Given the description of an element on the screen output the (x, y) to click on. 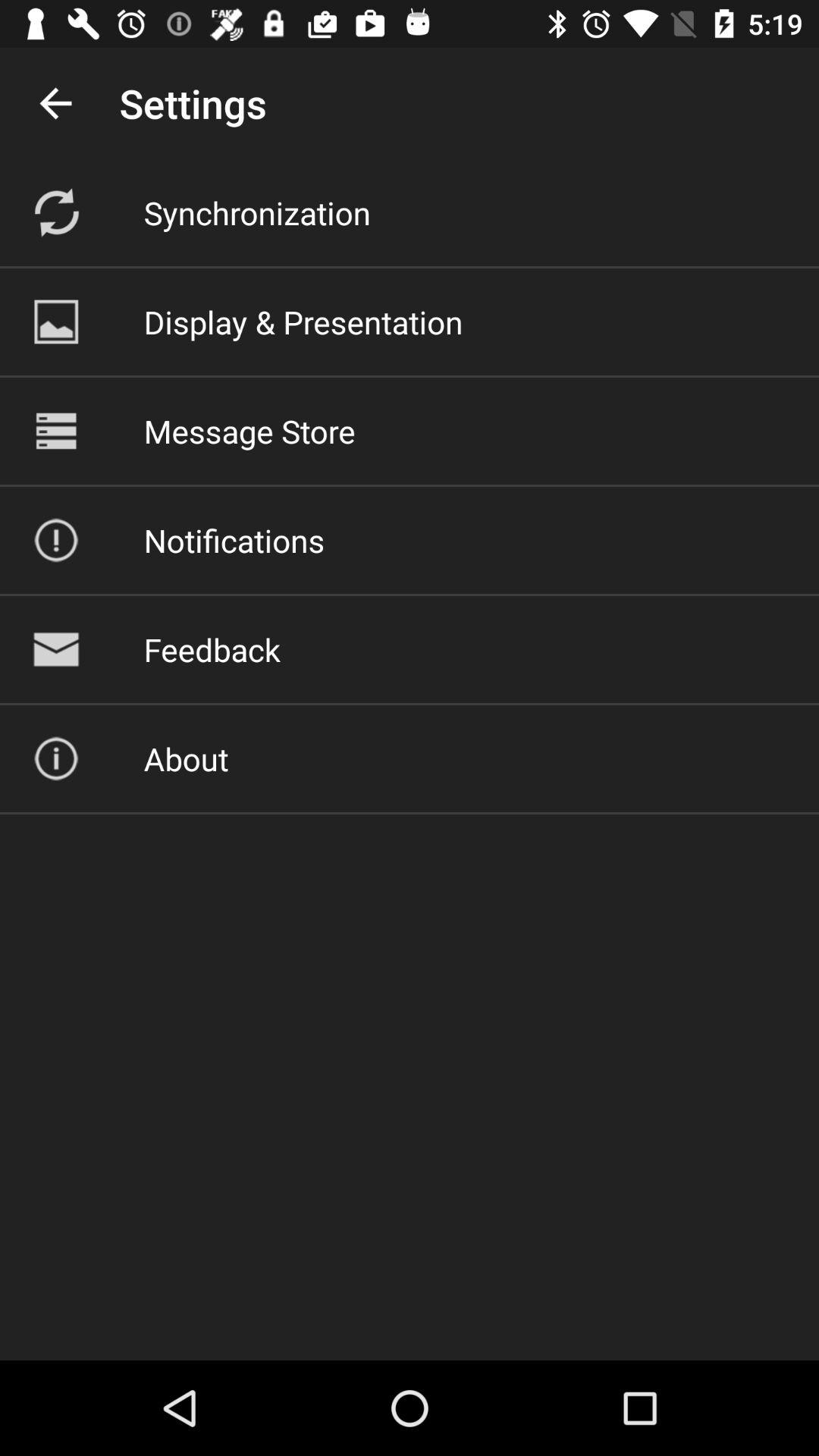
choose the icon above the display & presentation (256, 212)
